Given the description of an element on the screen output the (x, y) to click on. 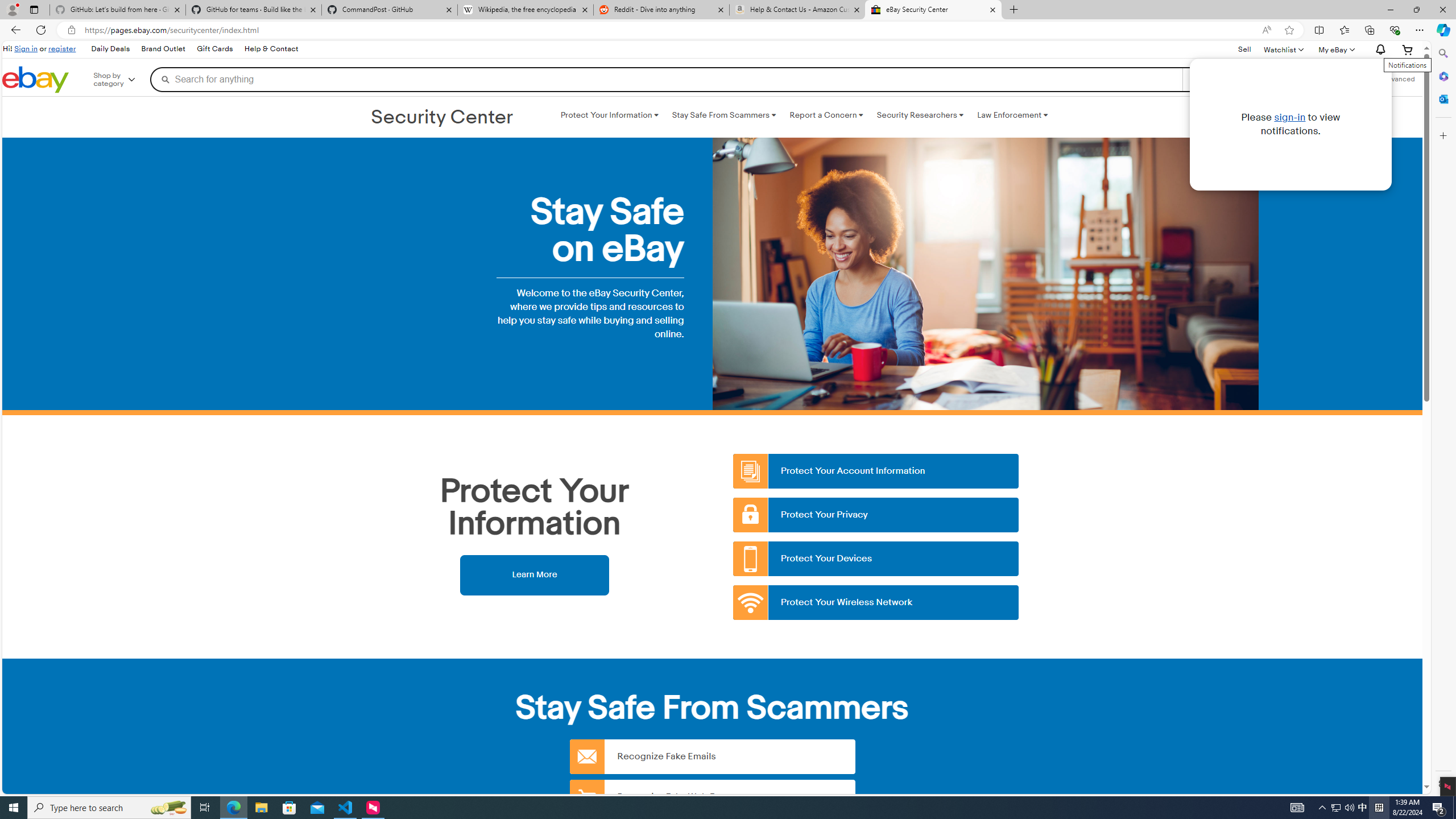
Security Researchers  (919, 115)
My eBayExpand My eBay (1335, 49)
Wikipedia, the free encyclopedia (525, 9)
Protect Your Information  (608, 115)
Protect Your Information  (608, 115)
WatchlistExpand Watch List (1282, 49)
Stay Safe From Scammers  (723, 115)
Advanced Search (1398, 78)
Reddit - Dive into anything (660, 9)
Law Enforcement  (1012, 115)
Gift Cards (214, 49)
Security Center (442, 117)
